Given the description of an element on the screen output the (x, y) to click on. 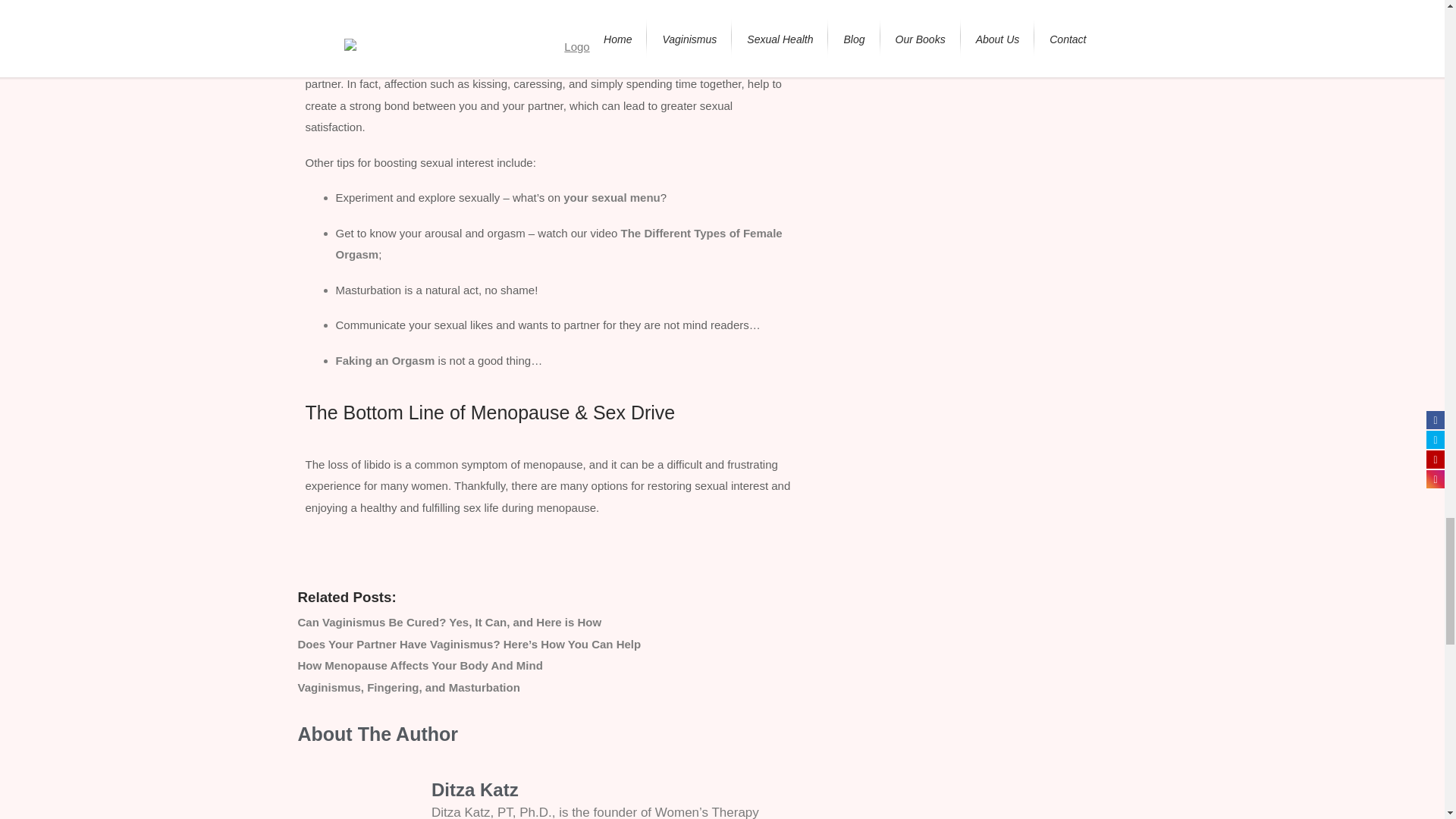
Vaginismus, Fingering, and Masturbation (408, 686)
Can Vaginismus Be Cured? Yes, It Can, and Here is How (449, 621)
How Menopause Affects Your Body And Mind (419, 665)
